Given the description of an element on the screen output the (x, y) to click on. 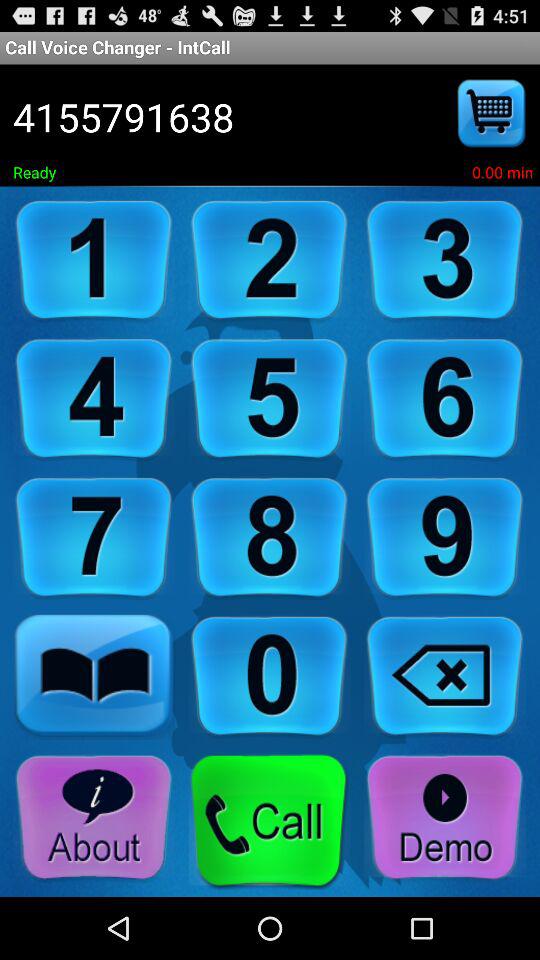
go to back (445, 676)
